Given the description of an element on the screen output the (x, y) to click on. 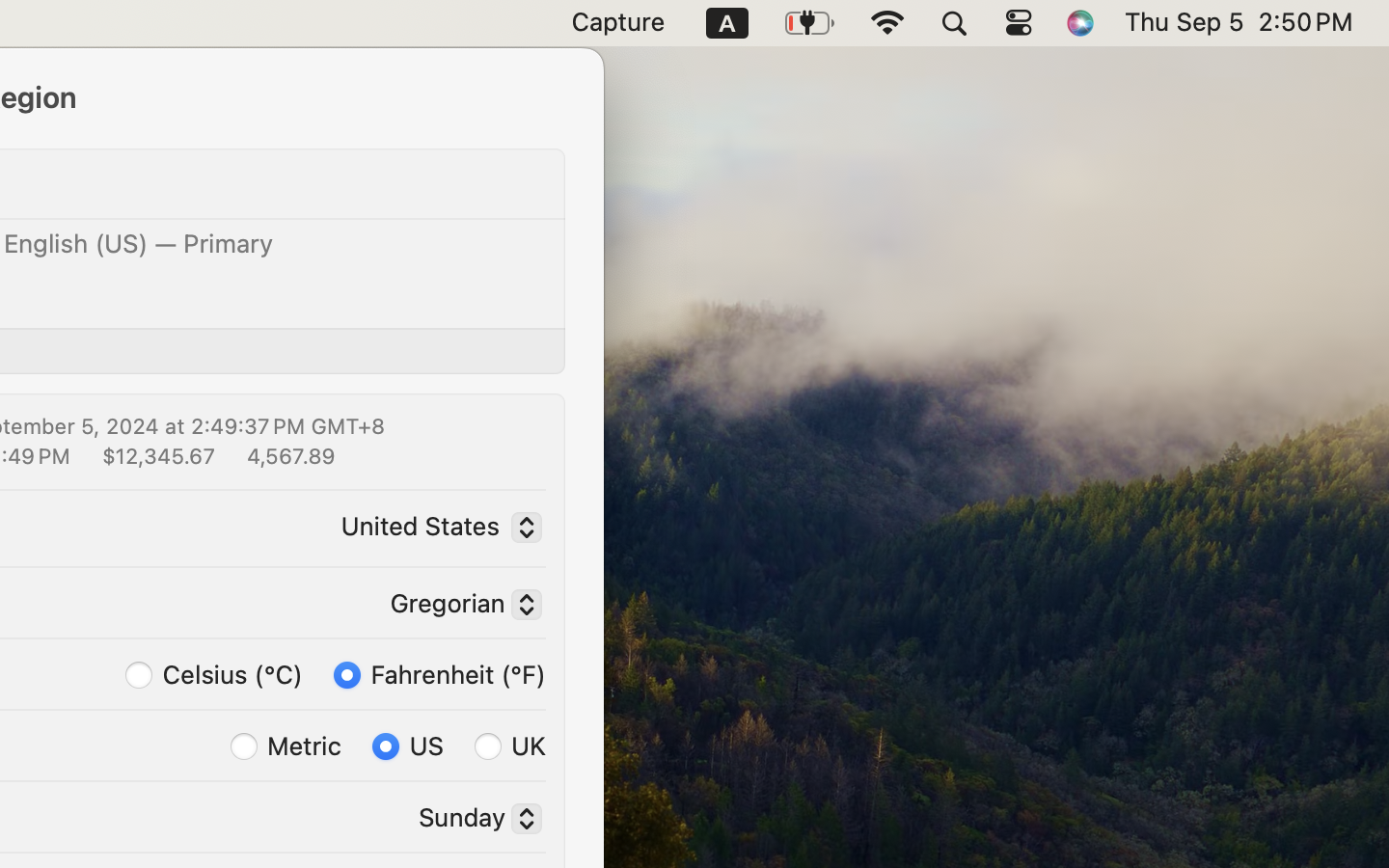
$12,345.67 Element type: AXStaticText (157, 454)
1 Element type: AXRadioButton (439, 672)
4,567.89 Element type: AXStaticText (289, 454)
